Given the description of an element on the screen output the (x, y) to click on. 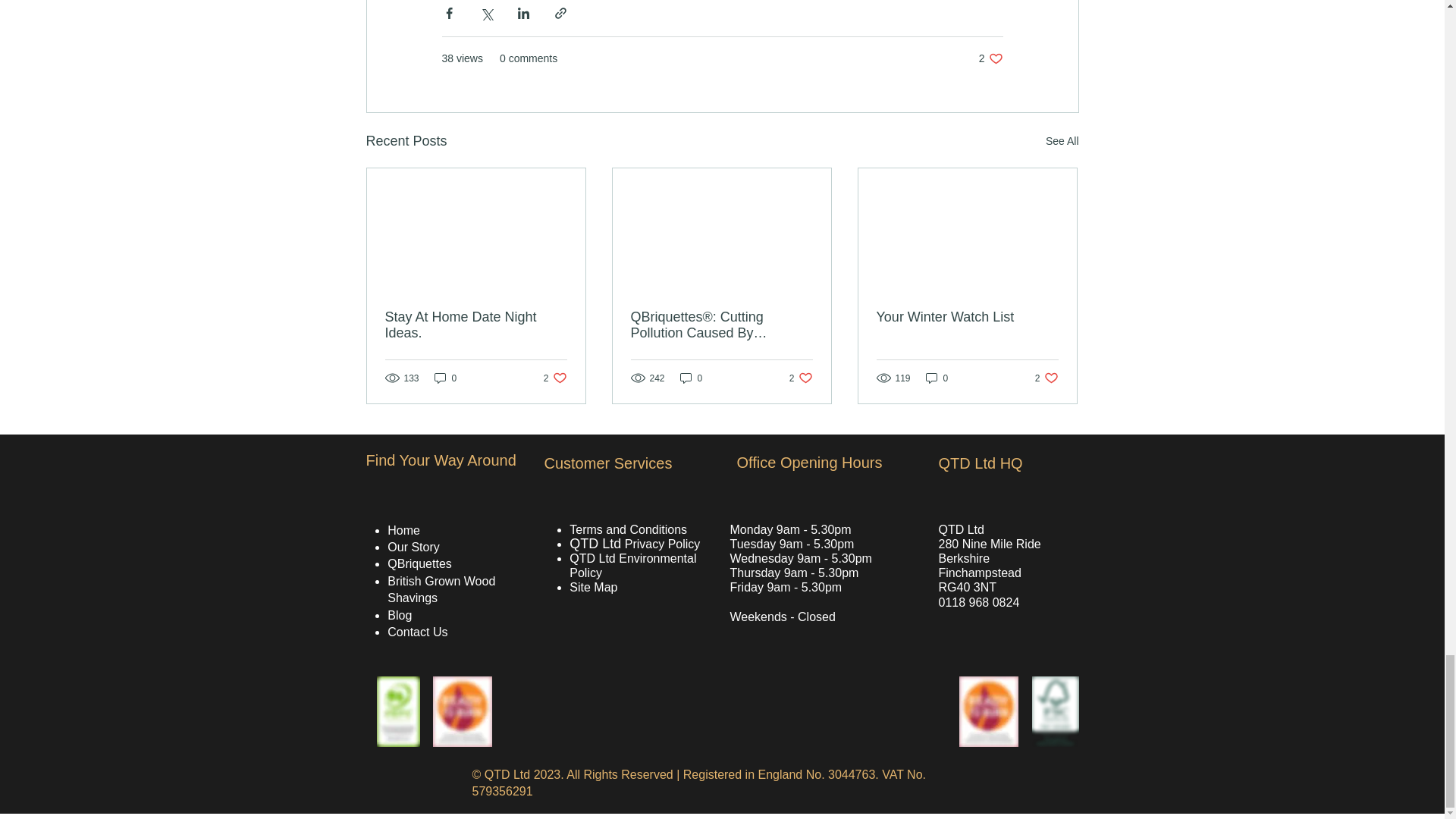
0 (937, 377)
0 (691, 377)
Your Winter Watch List (967, 317)
Blog  (400, 615)
QTD Ltd Environmental Policy (632, 565)
0 (990, 58)
See All (1046, 377)
QTD Ltd Privacy Policy (445, 377)
